Given the description of an element on the screen output the (x, y) to click on. 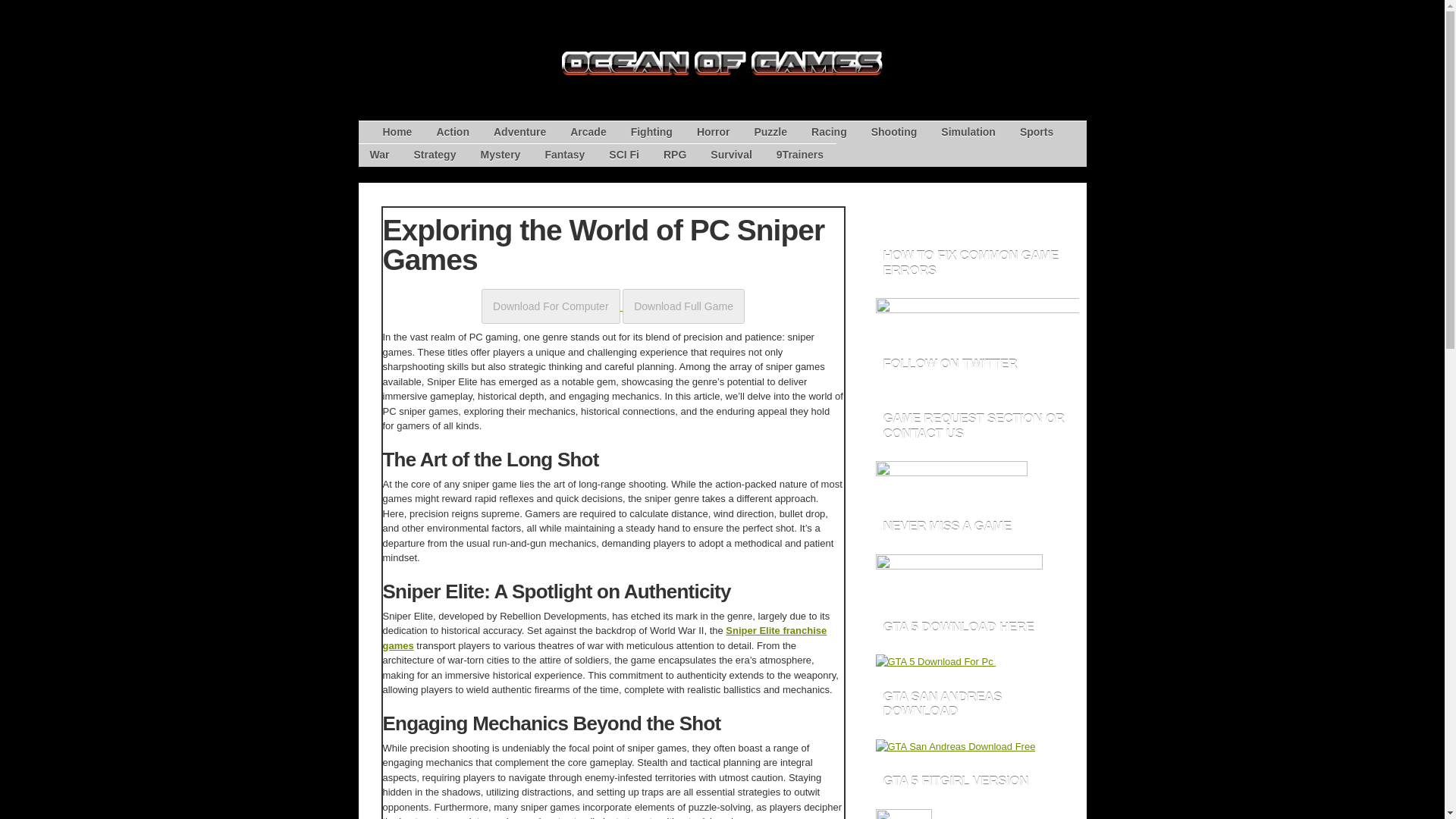
Adventure (519, 132)
Fantasy (563, 155)
Simulation (968, 132)
Survival (730, 155)
Sniper Elite franchise games (604, 637)
Shooting (894, 132)
Download For Computer Download Full Game (612, 306)
Download For Computer (550, 306)
Action (452, 132)
Search Website (1057, 211)
Fighting (652, 132)
RPG (674, 155)
Sports (1036, 132)
Download Full Game (683, 306)
Horror (713, 132)
